Given the description of an element on the screen output the (x, y) to click on. 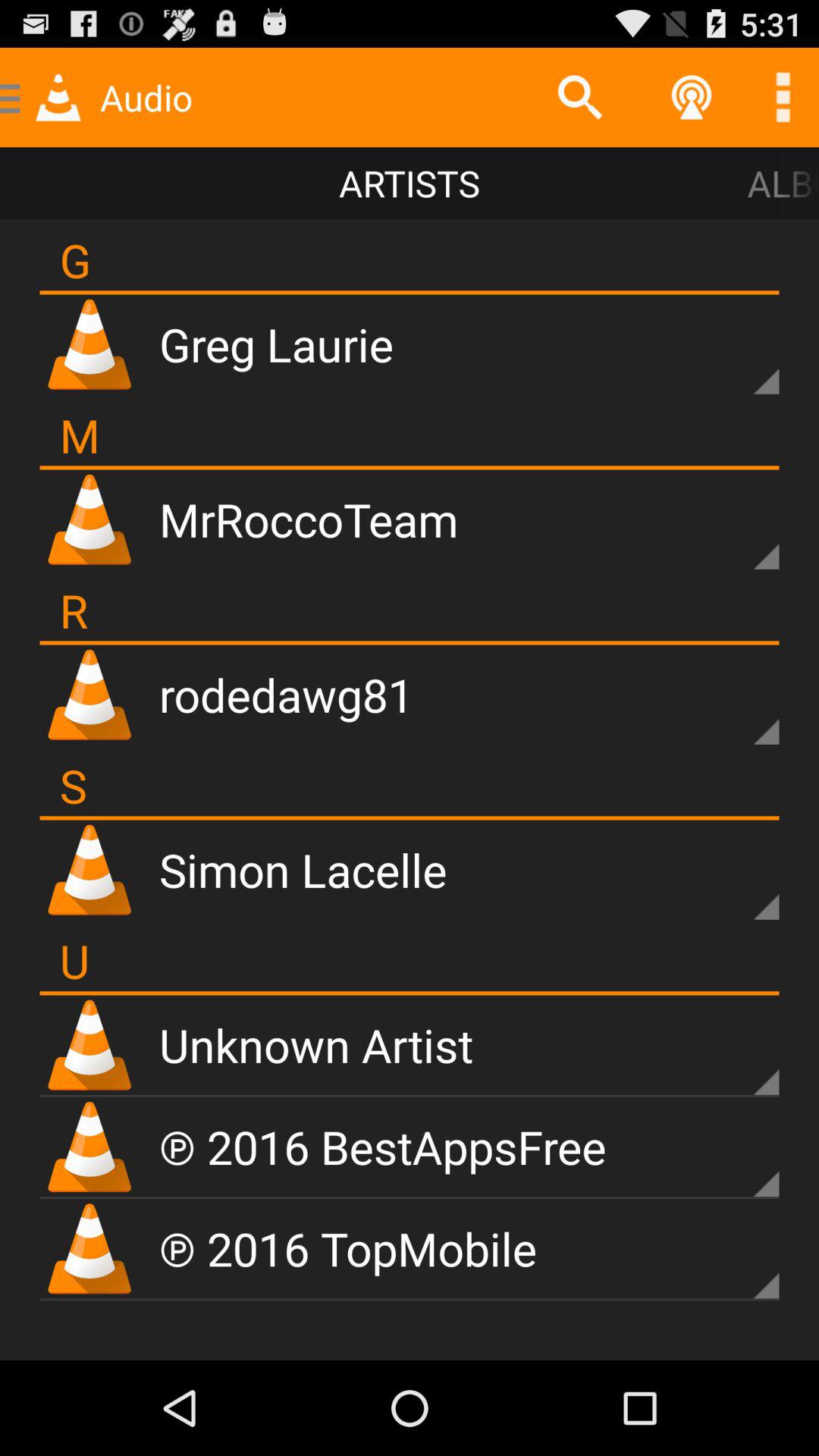
jump until the simon lacelle app (303, 869)
